Given the description of an element on the screen output the (x, y) to click on. 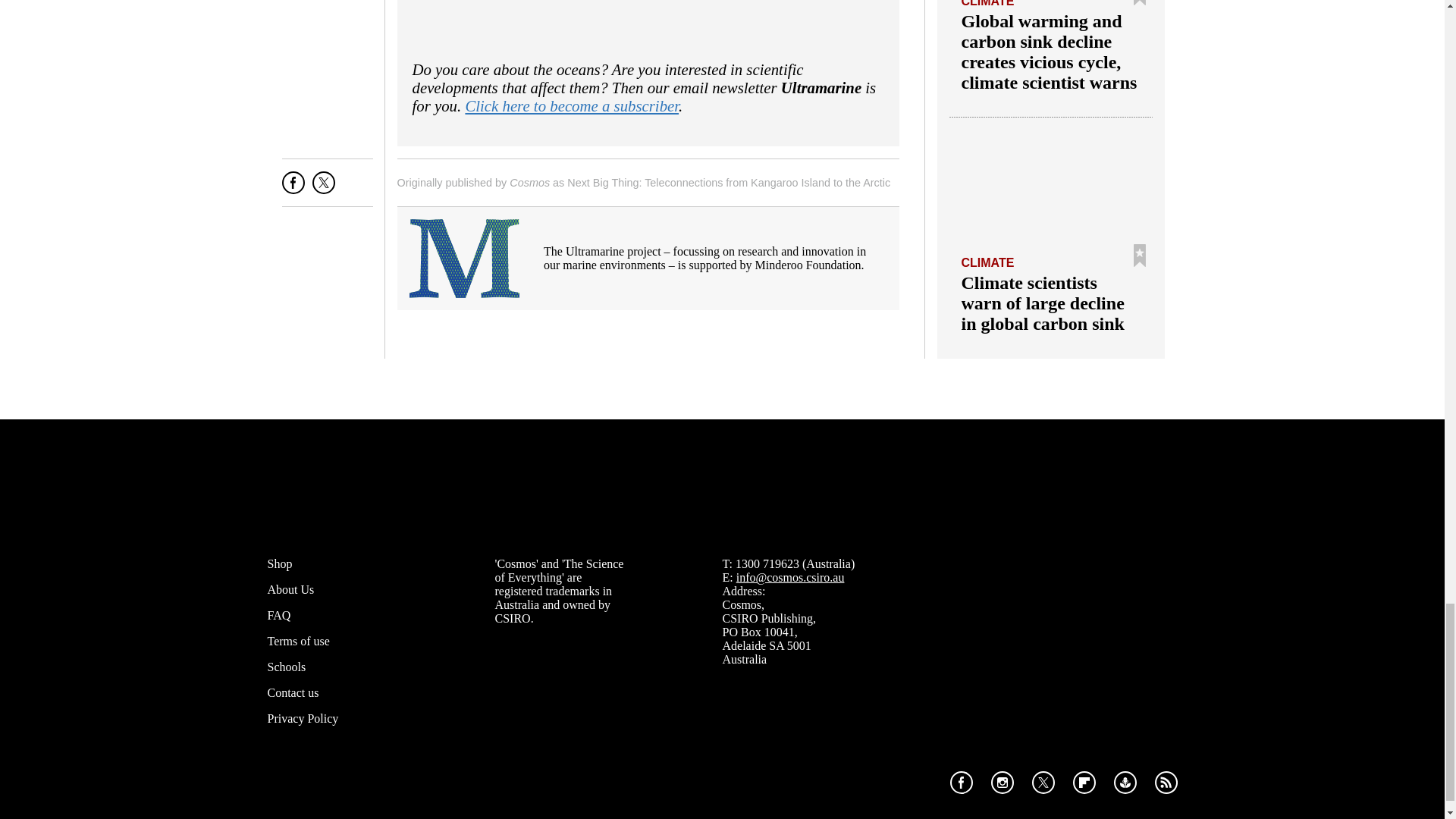
Share on Facebook (293, 188)
Tweet (323, 188)
